Given the description of an element on the screen output the (x, y) to click on. 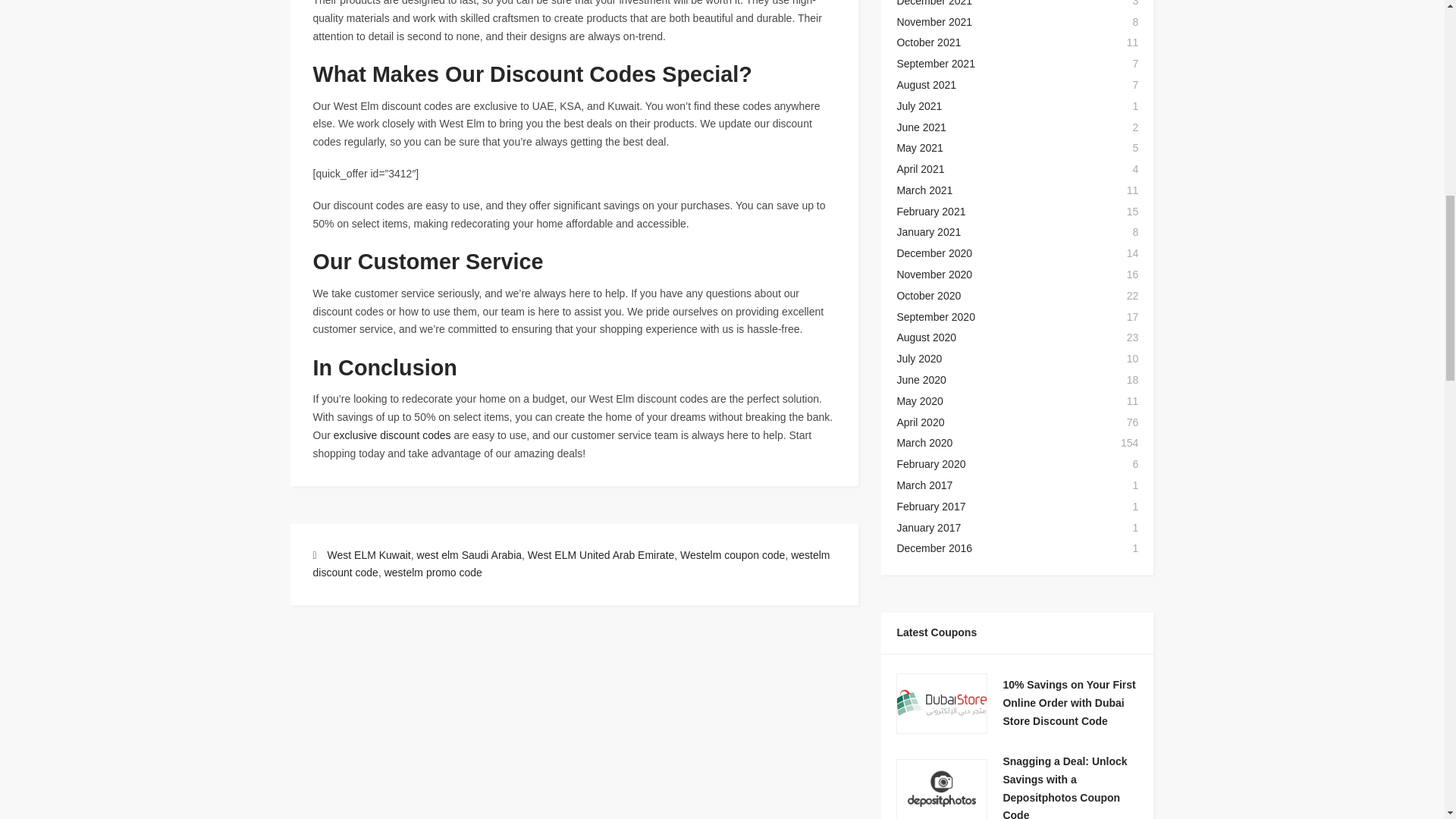
West ELM United Arab Emirate (600, 554)
westelm discount code (571, 563)
exclusive discount codes (392, 435)
west elm Saudi Arabia (469, 554)
westelm promo code (432, 572)
Westelm coupon code (731, 554)
West ELM Kuwait (368, 554)
